Given the description of an element on the screen output the (x, y) to click on. 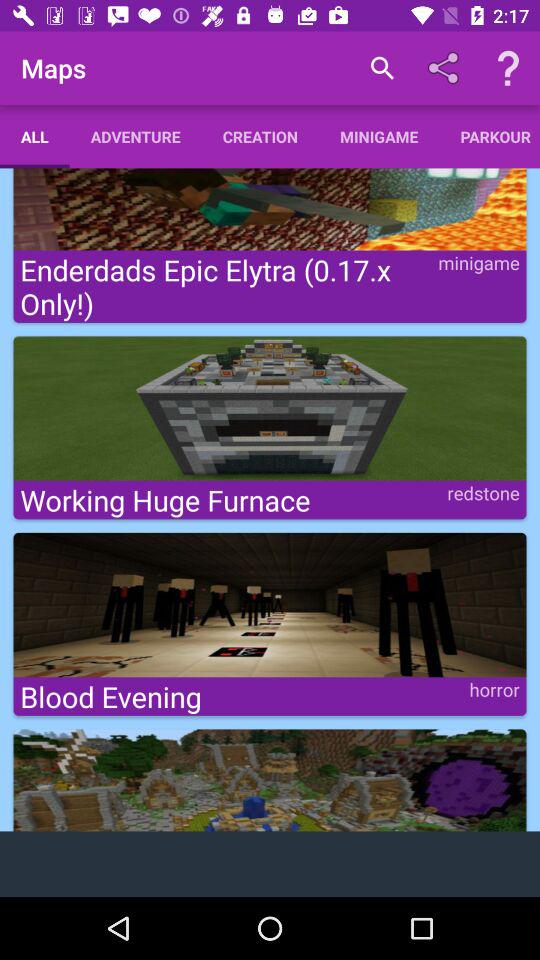
choose the item above the minigame (381, 67)
